Given the description of an element on the screen output the (x, y) to click on. 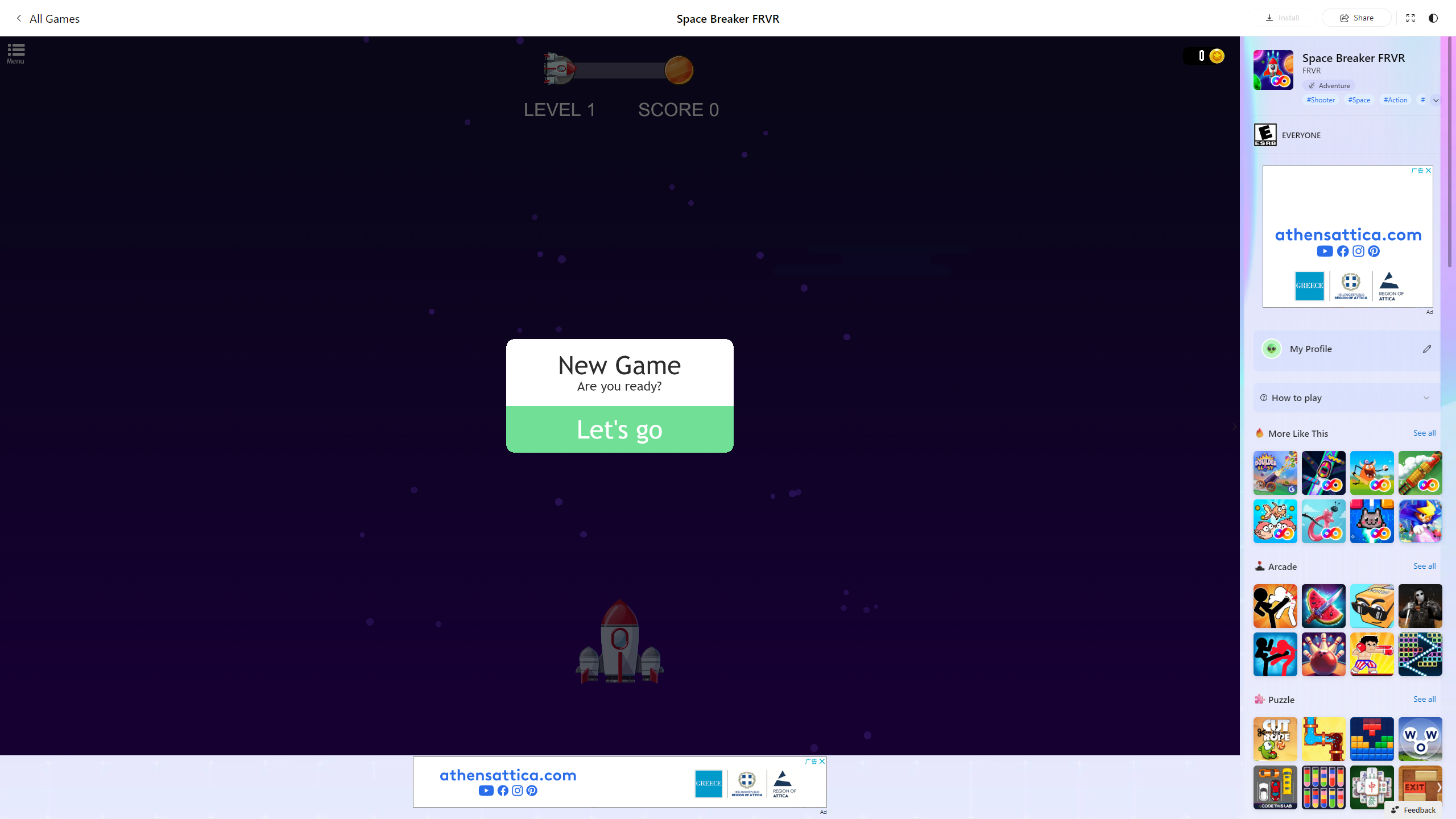
Advertisement (1347, 236)
Cubes2048 (1372, 605)
Castle Of Magic (1420, 521)
Solitaire Mahjong Classic (1372, 787)
Stickman fighter : Epic battle (1275, 653)
How to play (1338, 397)
Plumber World (1324, 738)
All Games (251, 17)
Class: expand-arrow neutral (1435, 100)
